Given the description of an element on the screen output the (x, y) to click on. 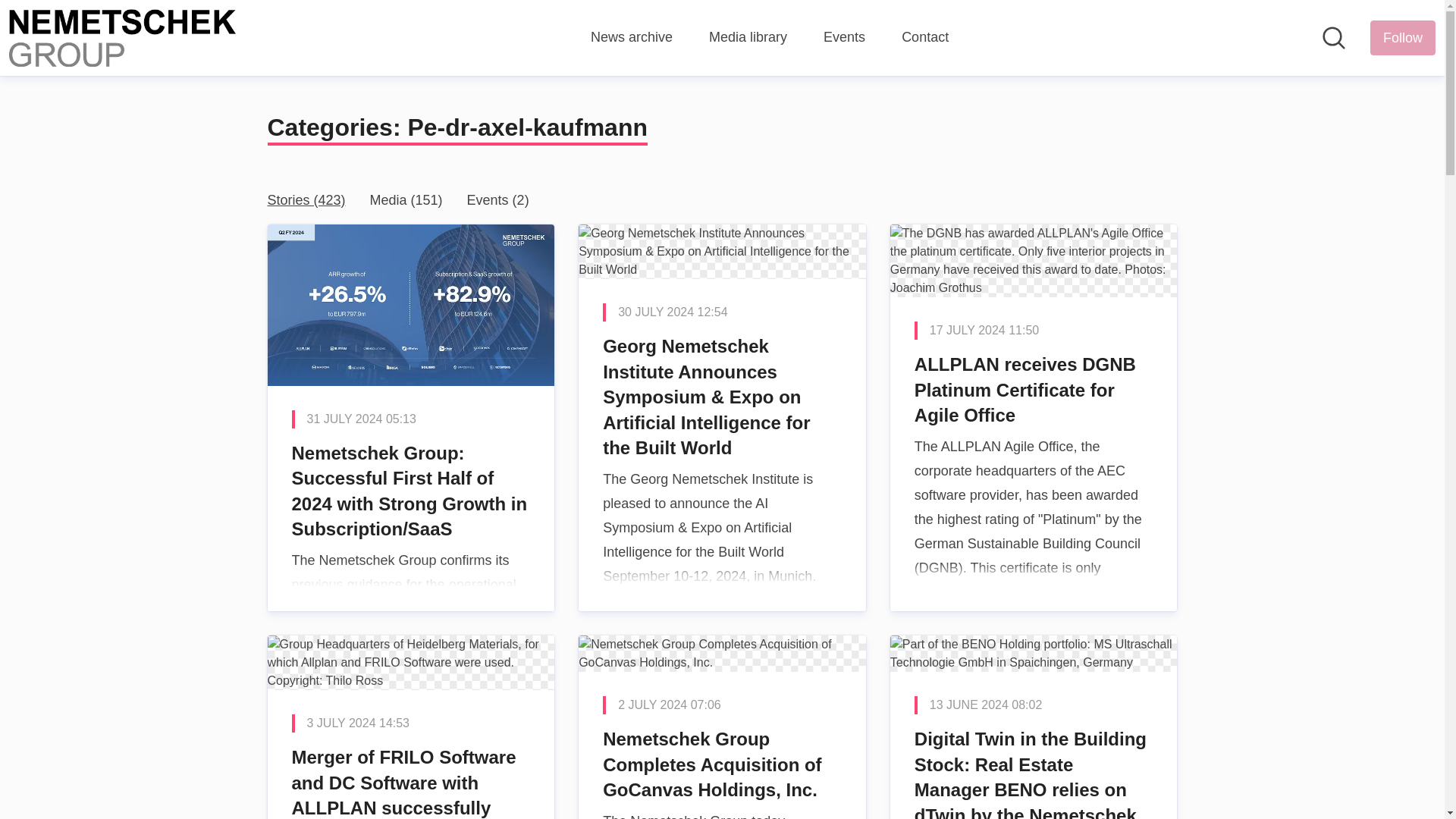
Events (844, 37)
Contact (925, 37)
Follow (1402, 37)
News archive (631, 37)
Media library (748, 37)
Search in newsroom (1333, 37)
